Given the description of an element on the screen output the (x, y) to click on. 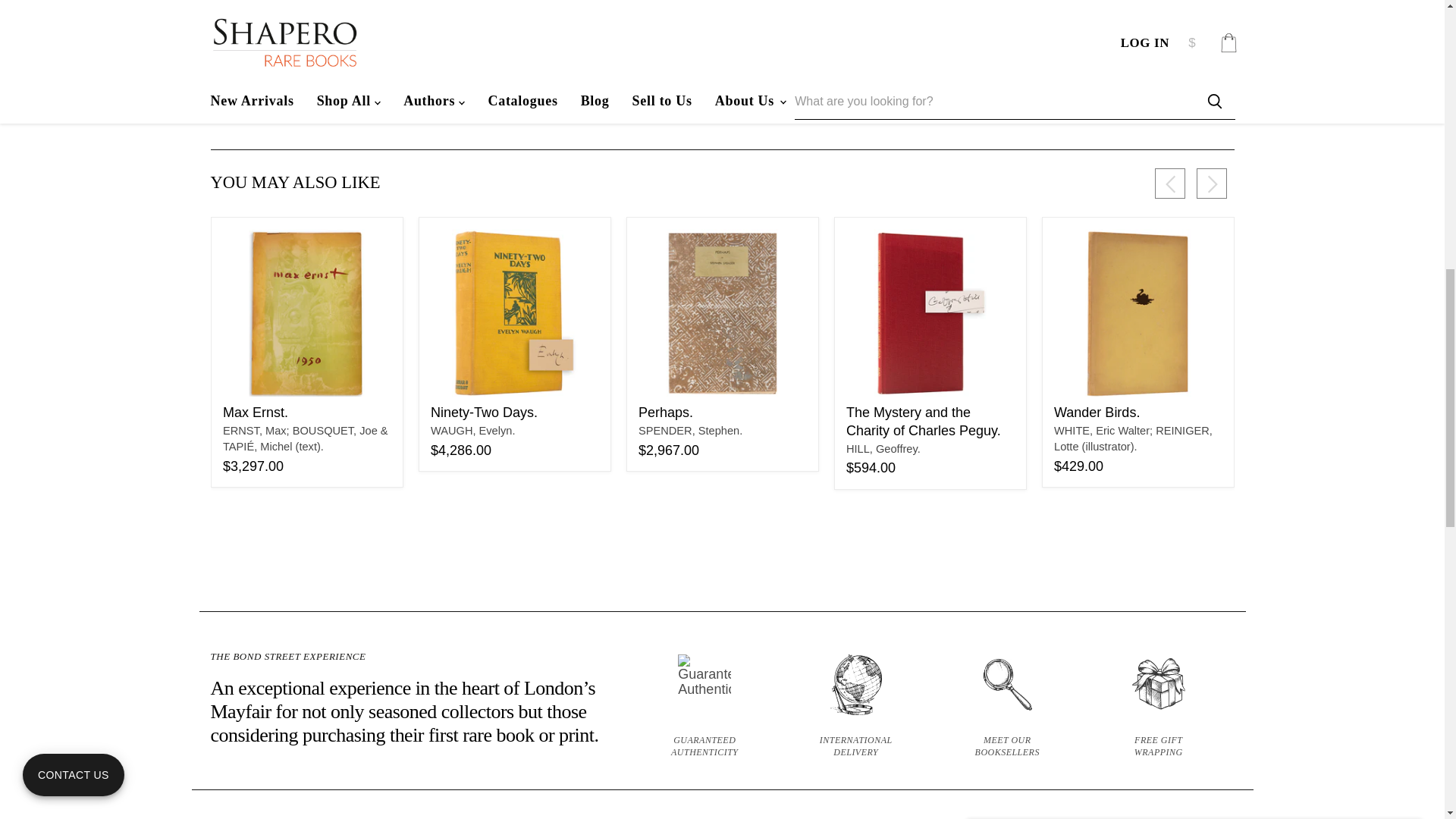
HILL, Geoffrey. (882, 449)
WAUGH, Evelyn. (472, 430)
PENROSE, Valentine. (1316, 430)
SPENDER, Stephen. (690, 430)
